Given the description of an element on the screen output the (x, y) to click on. 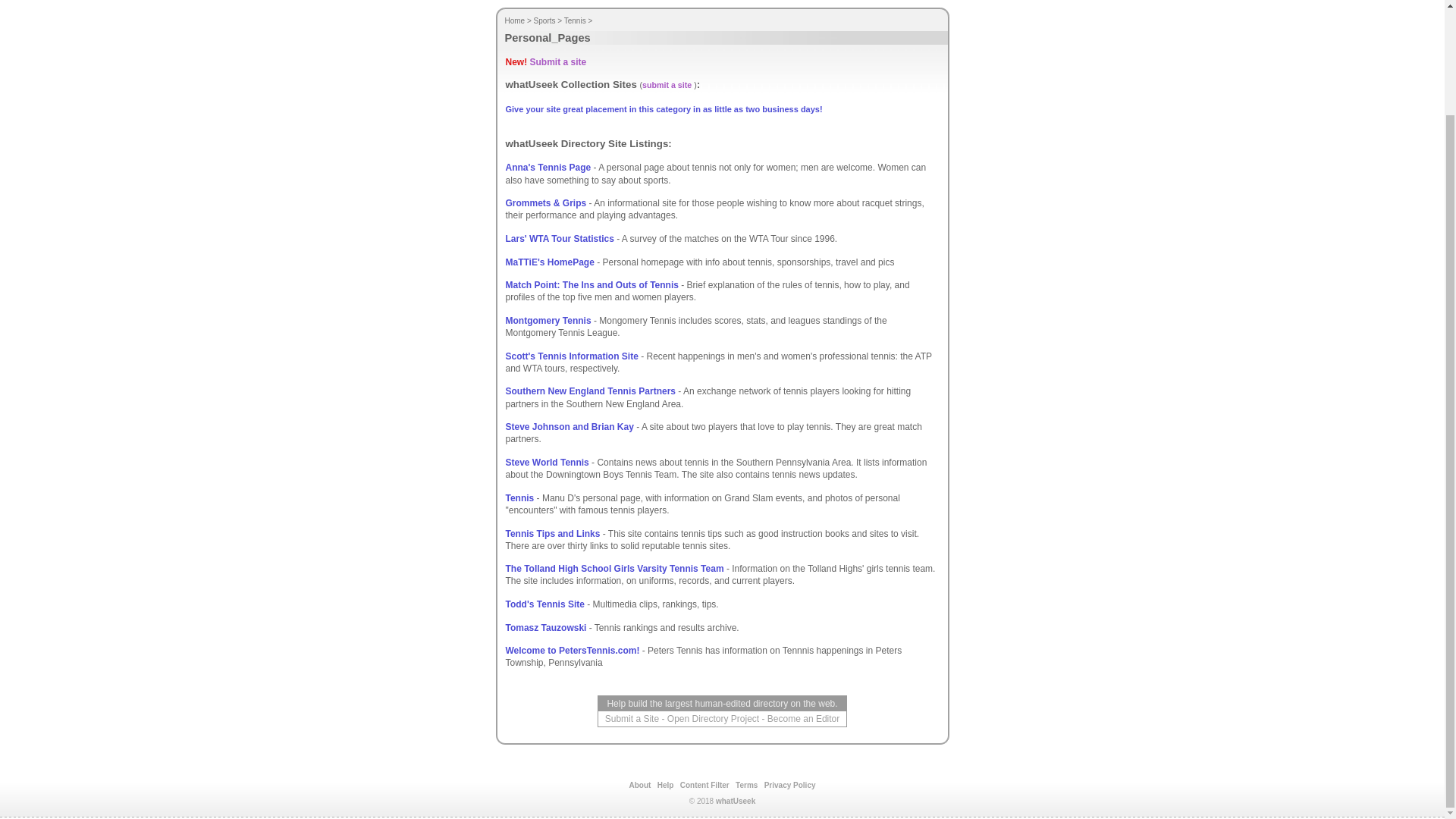
The Tolland High School Girls Varsity Tennis Team (614, 568)
Steve World Tennis (546, 462)
Help (666, 785)
Todd's Tennis Site (544, 603)
Become an Editor (803, 718)
About (639, 785)
Home (515, 20)
Tomasz Tauzowski (545, 627)
Lars' WTA Tour Statistics (558, 238)
